Given the description of an element on the screen output the (x, y) to click on. 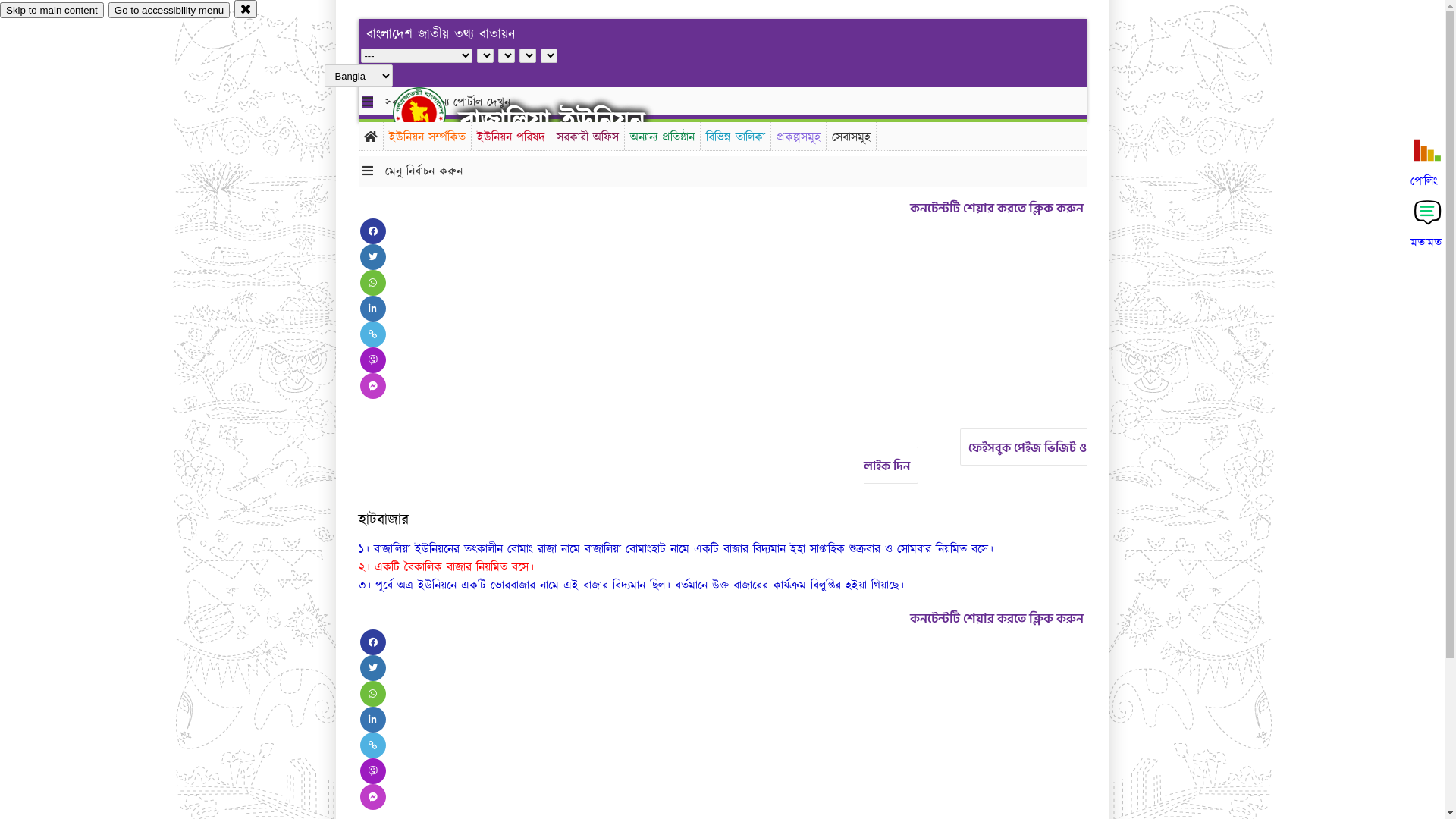
Skip to main content Element type: text (51, 10)
Go to accessibility menu Element type: text (168, 10)
close Element type: hover (245, 9)

                
             Element type: hover (431, 112)
